Given the description of an element on the screen output the (x, y) to click on. 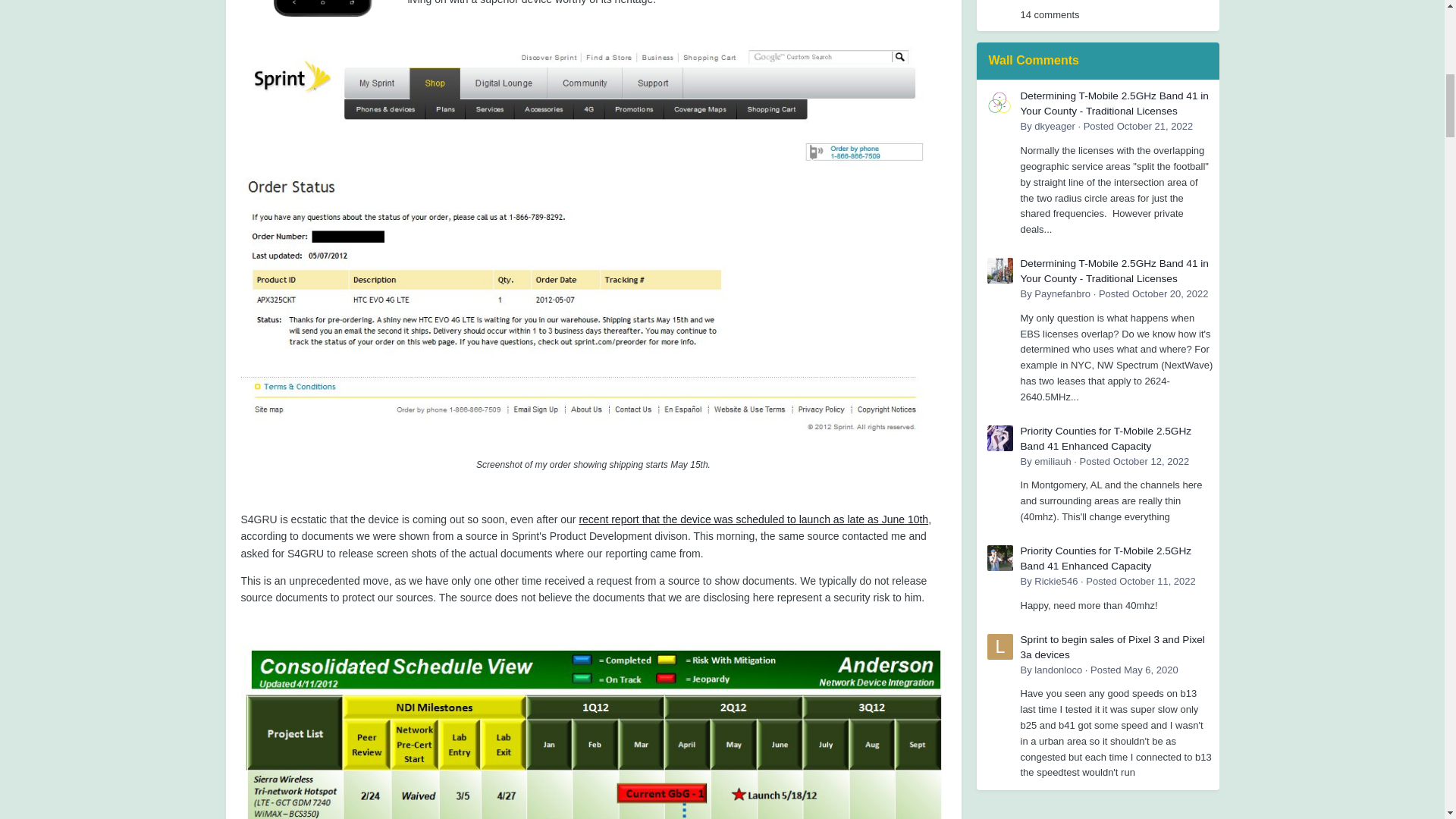
Enlarge image (593, 244)
